Given the description of an element on the screen output the (x, y) to click on. 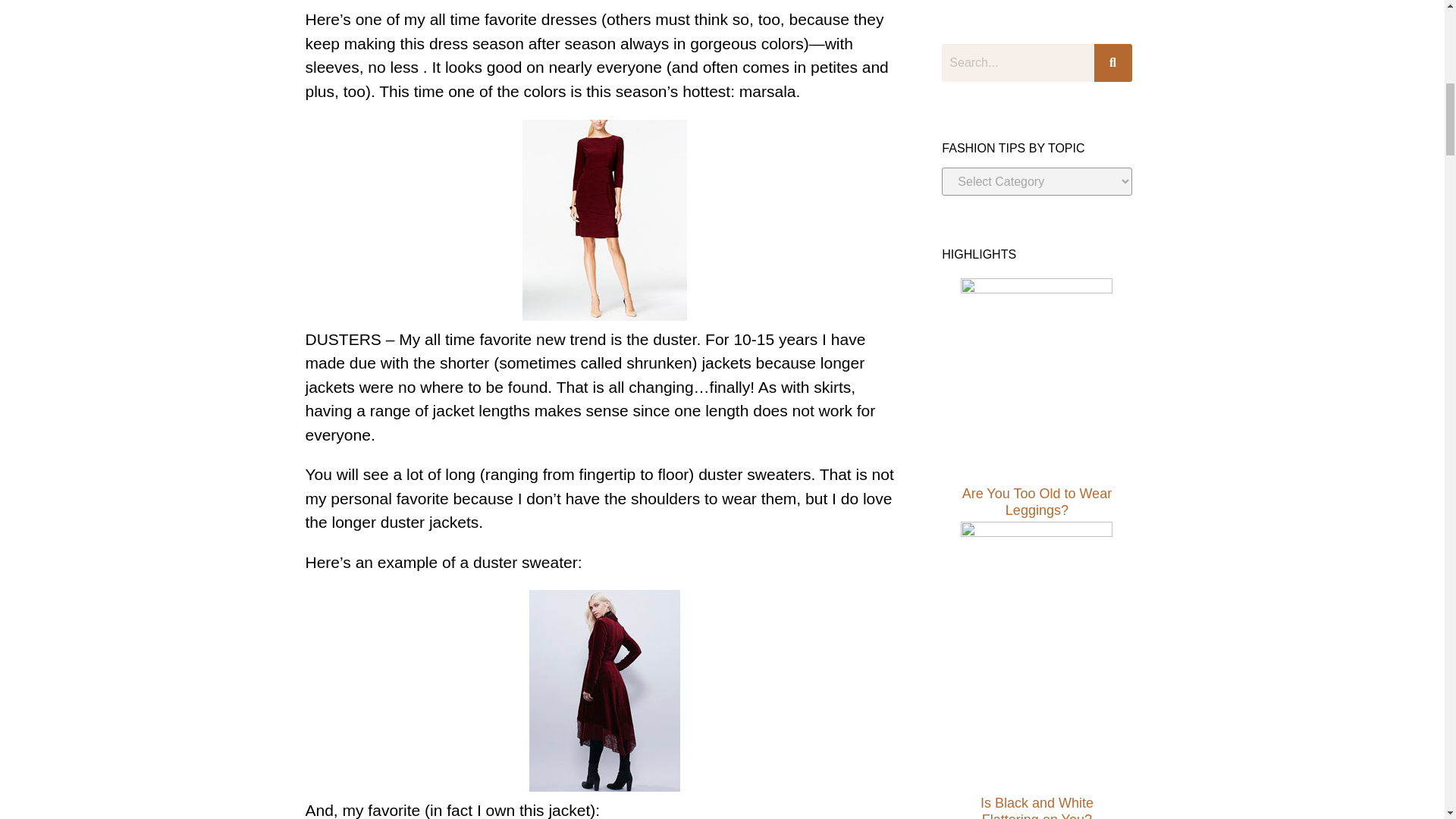
Search (1017, 62)
